Given the description of an element on the screen output the (x, y) to click on. 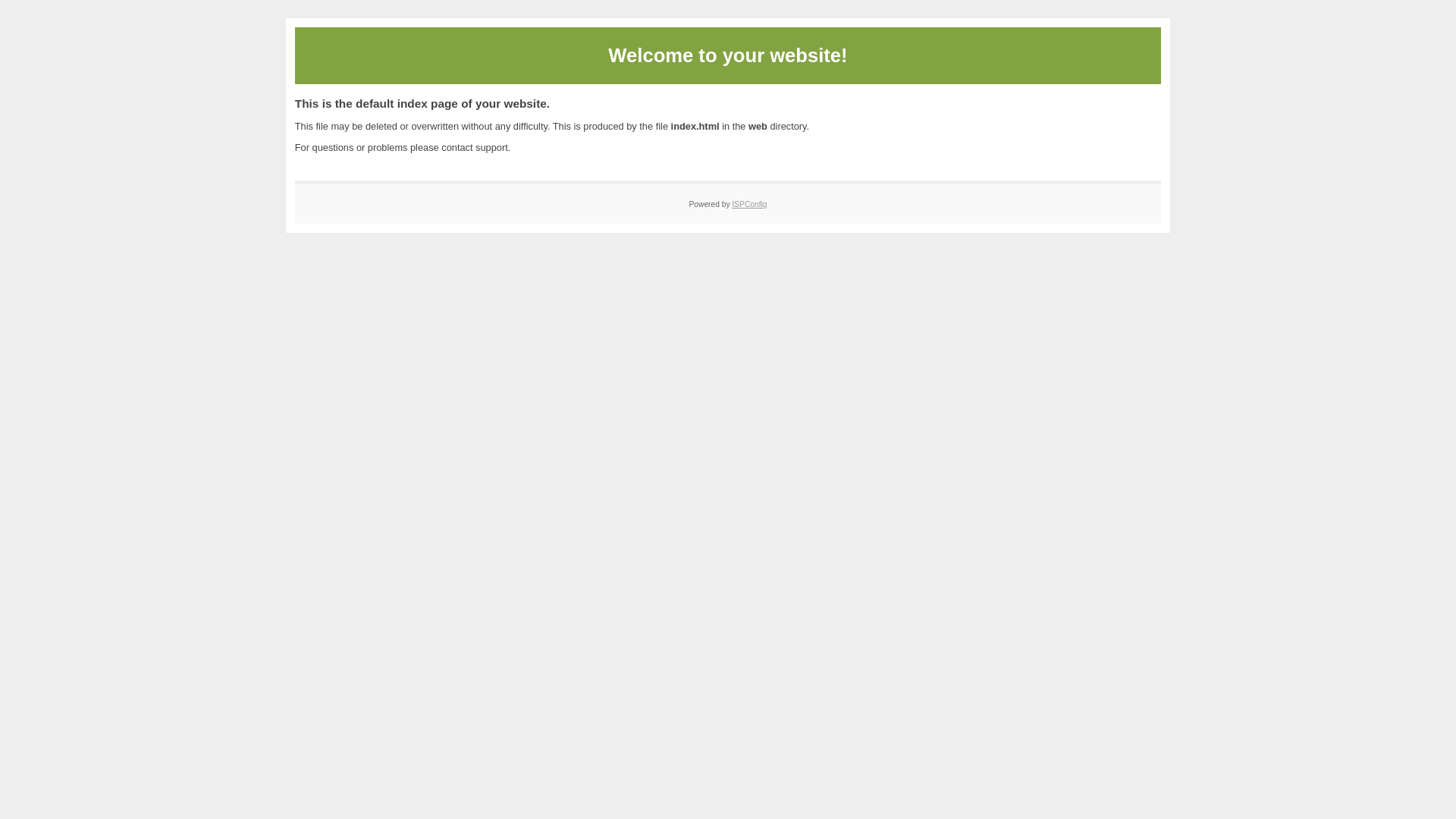
ISPConfig Element type: text (748, 204)
